Given the description of an element on the screen output the (x, y) to click on. 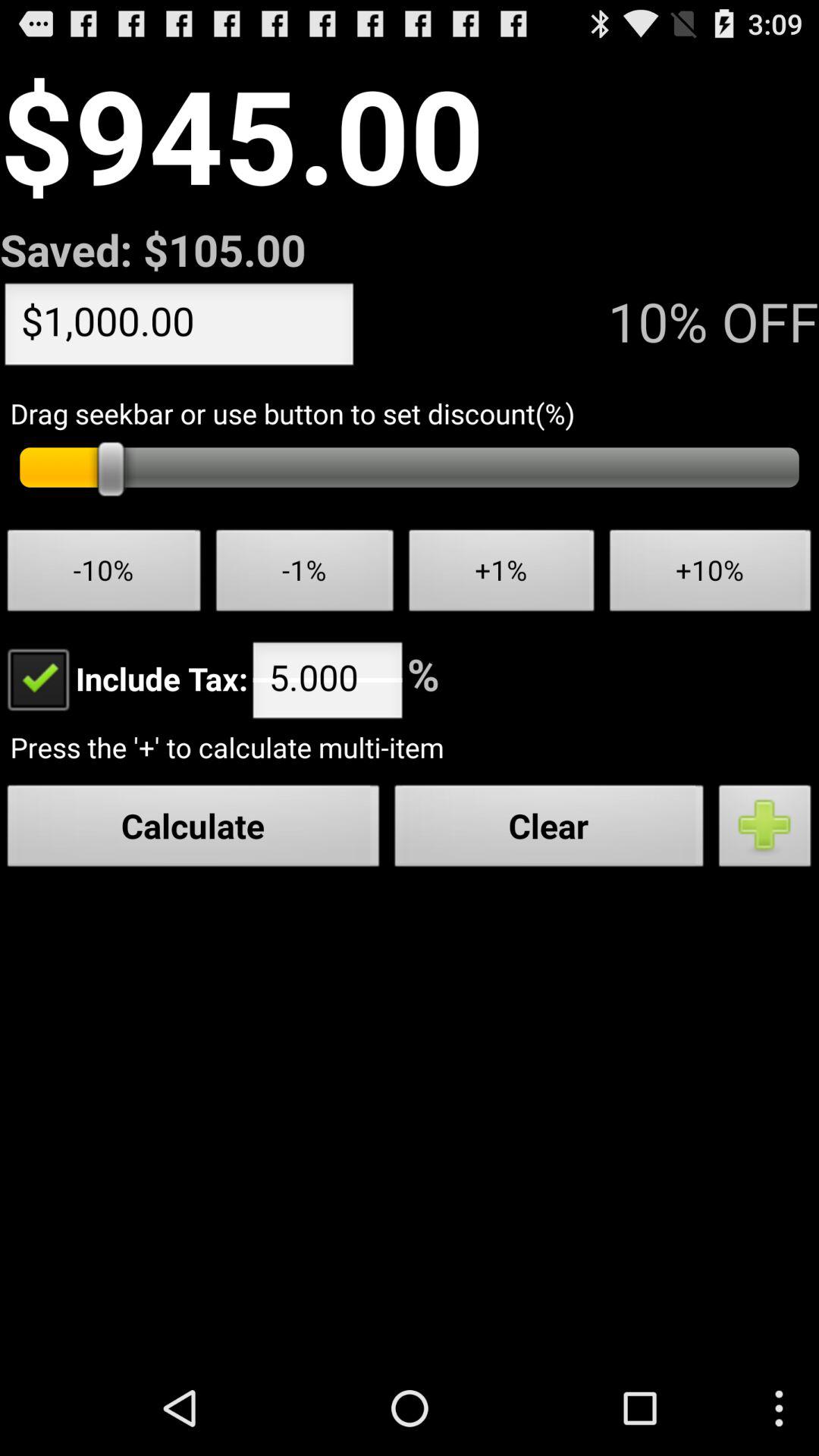
launch the button next to the clear button (765, 830)
